Given the description of an element on the screen output the (x, y) to click on. 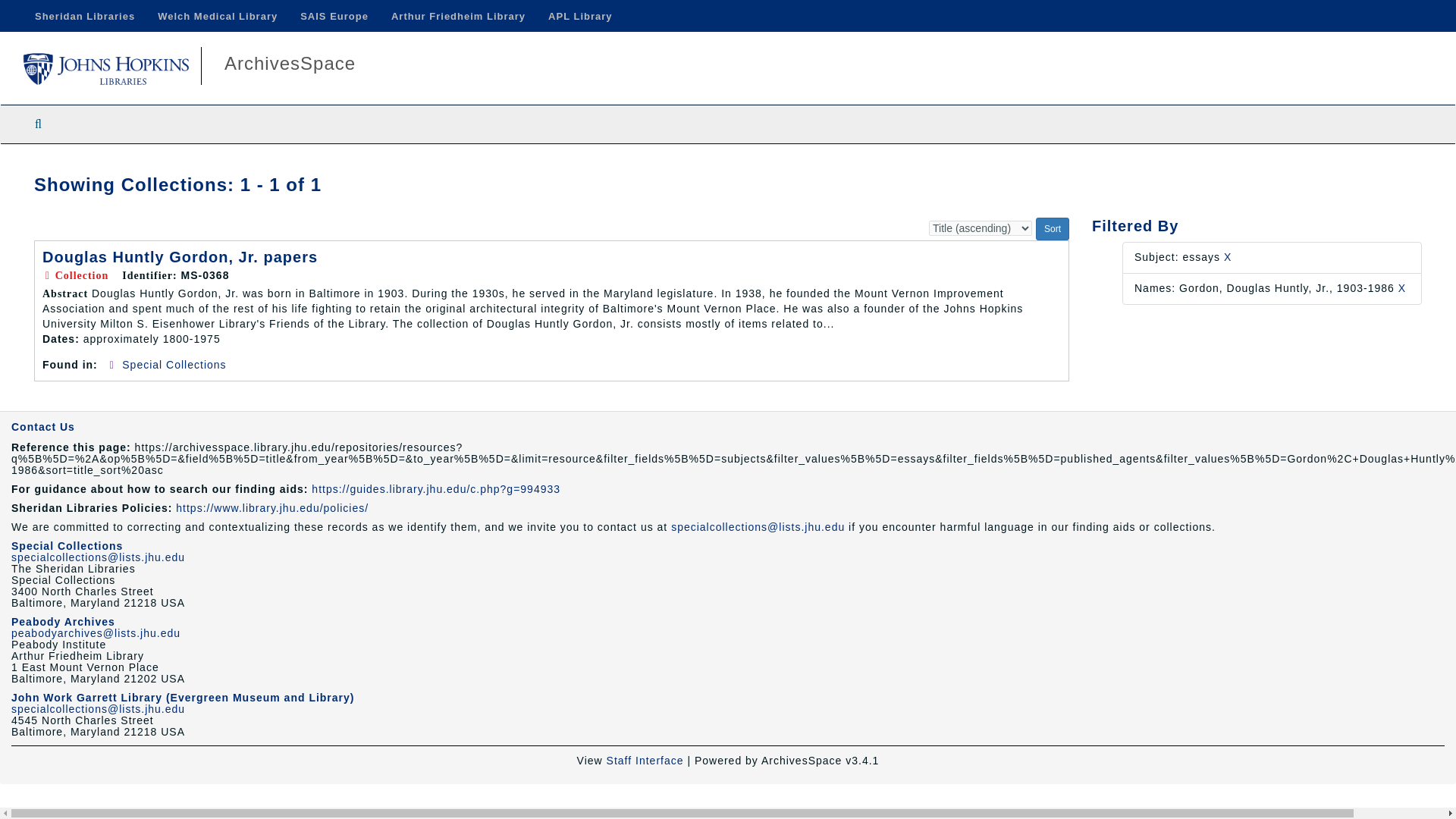
Special Collections (173, 364)
Sort (1051, 228)
APL Library (580, 15)
Special Collections (66, 545)
SAIS Europe (334, 15)
Douglas Huntly Gordon, Jr. papers (179, 256)
Arthur Friedheim Library (458, 15)
Sheridan Libraries (85, 15)
Staff Interface (645, 760)
Sort (1051, 228)
